Given the description of an element on the screen output the (x, y) to click on. 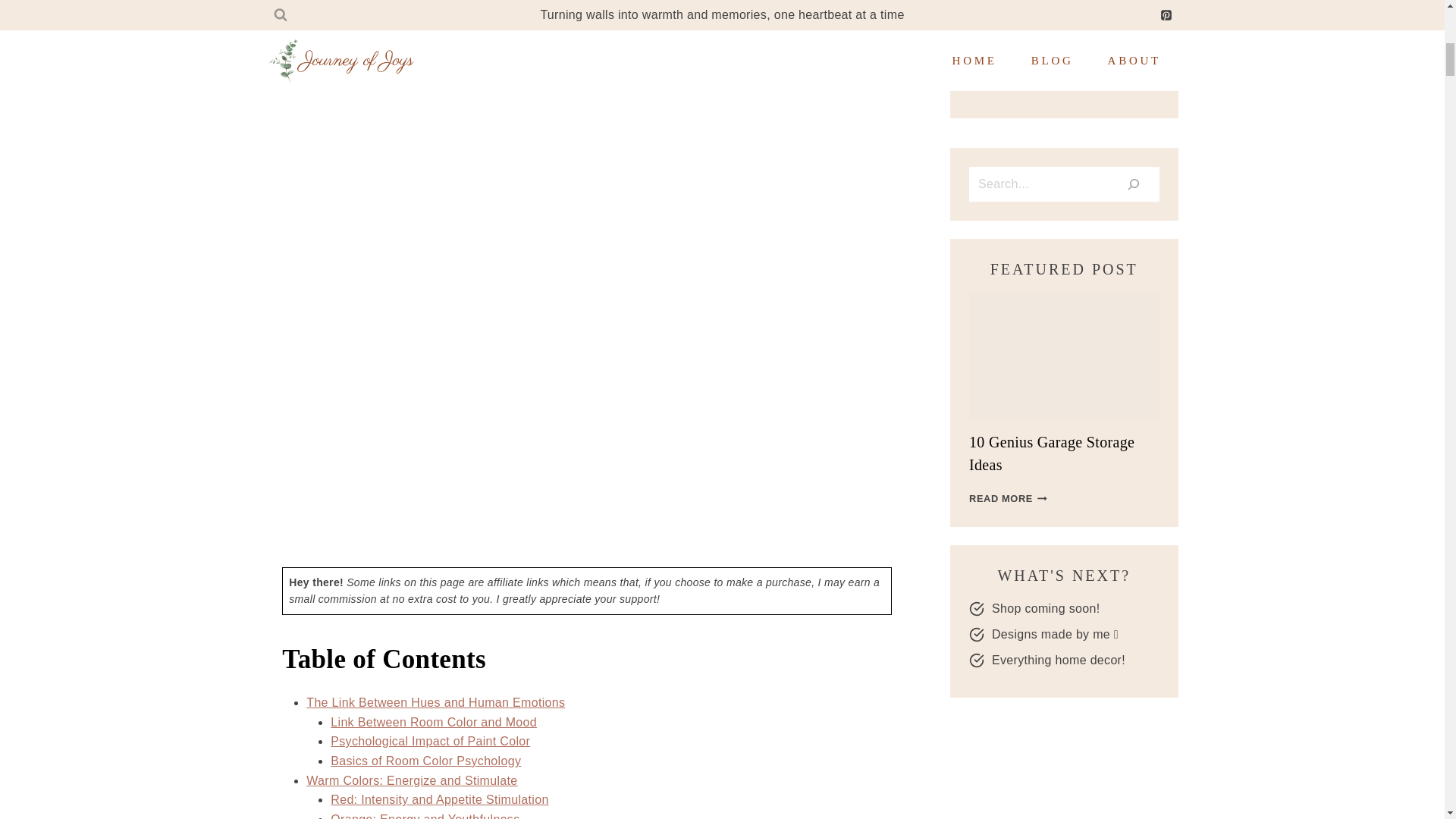
Orange: Energy and Youthfulness (424, 816)
Warm Colors: Energize and Stimulate (410, 780)
The Link Between Hues and Human Emotions (434, 702)
Link Between Room Color and Mood (433, 721)
Red: Intensity and Appetite Stimulation (439, 799)
Psychological Impact of Paint Color (429, 740)
Basics of Room Color Psychology (425, 760)
